Given the description of an element on the screen output the (x, y) to click on. 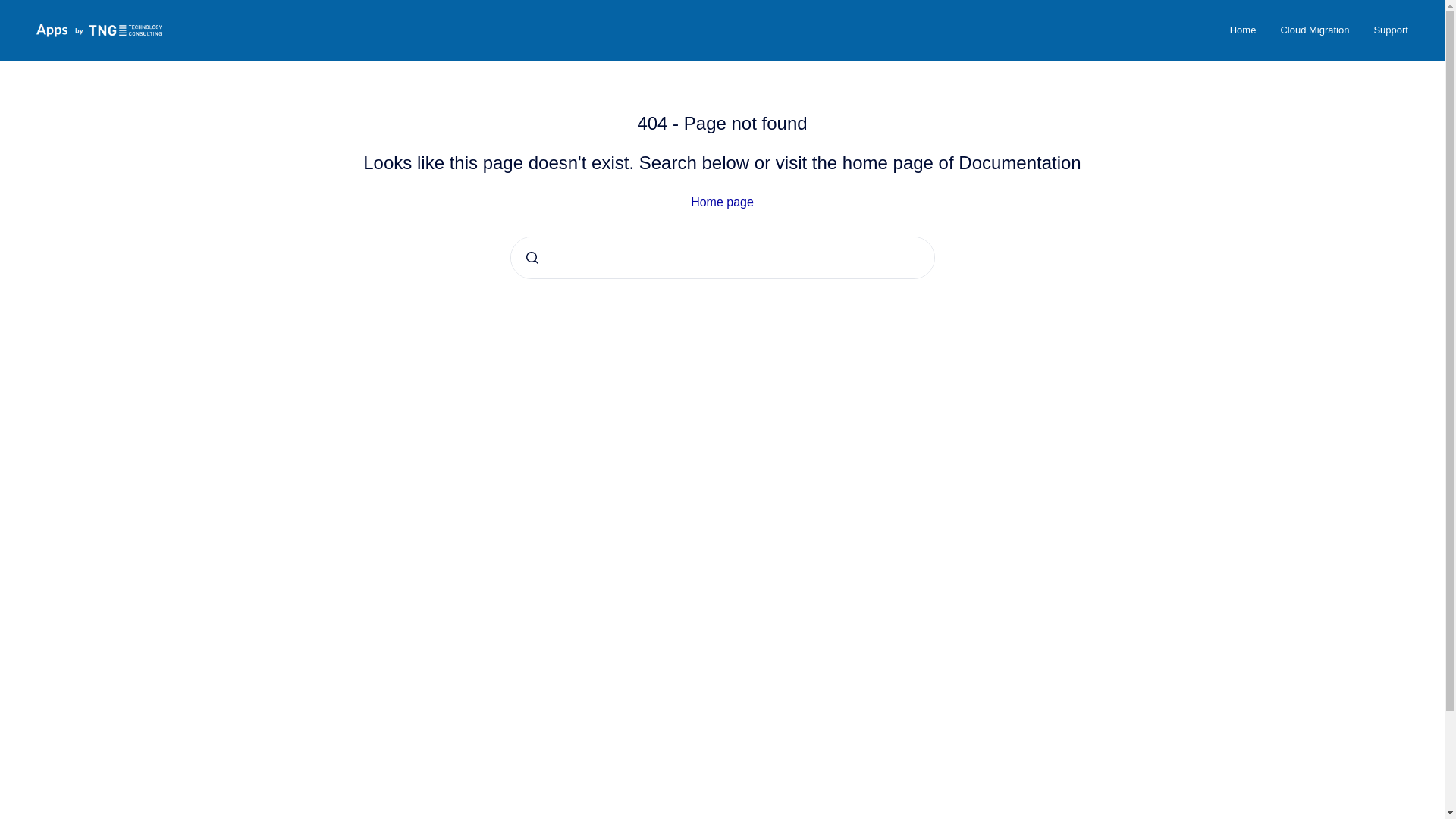
Home (1242, 29)
Home page (722, 201)
Cloud Migration (1314, 29)
Go to homepage (98, 30)
Support (1391, 29)
